Given the description of an element on the screen output the (x, y) to click on. 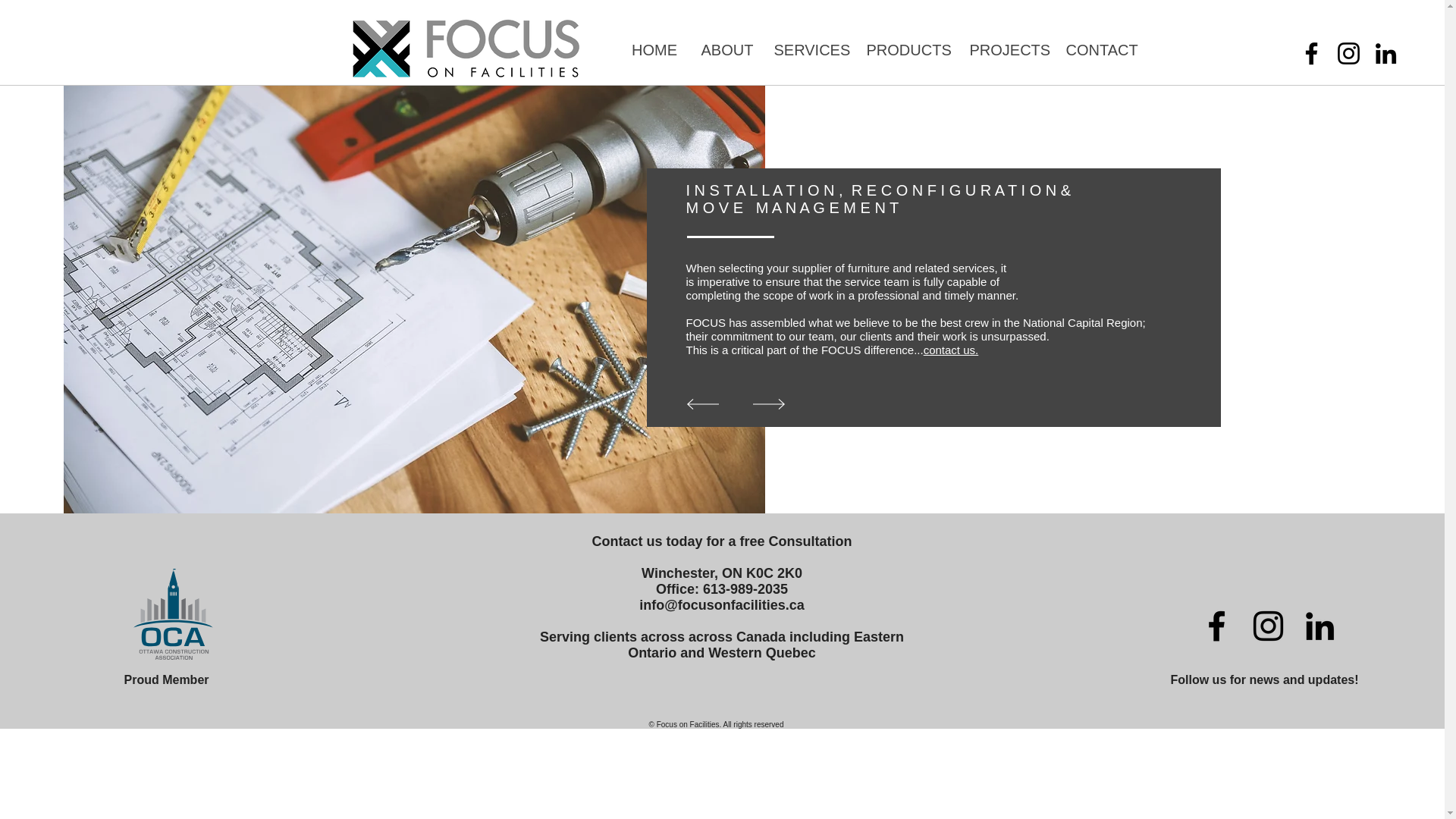
CONTACT (1100, 50)
HOME (653, 50)
PROJECTS (1004, 50)
contact us. (950, 349)
ABOUT (724, 50)
SERVICES (807, 50)
PRODUCTS (904, 50)
